Given the description of an element on the screen output the (x, y) to click on. 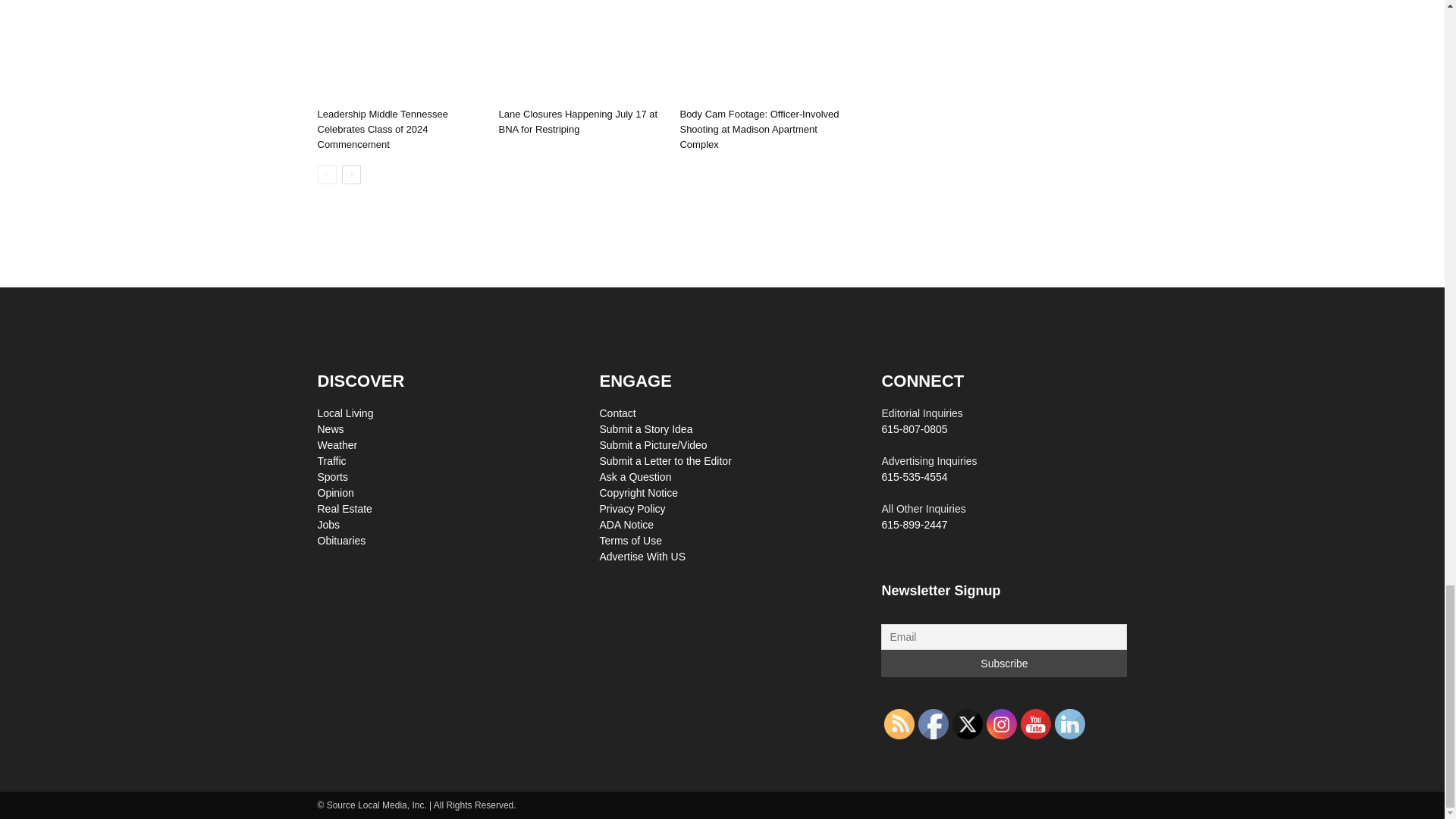
Subscribe (1003, 663)
